Given the description of an element on the screen output the (x, y) to click on. 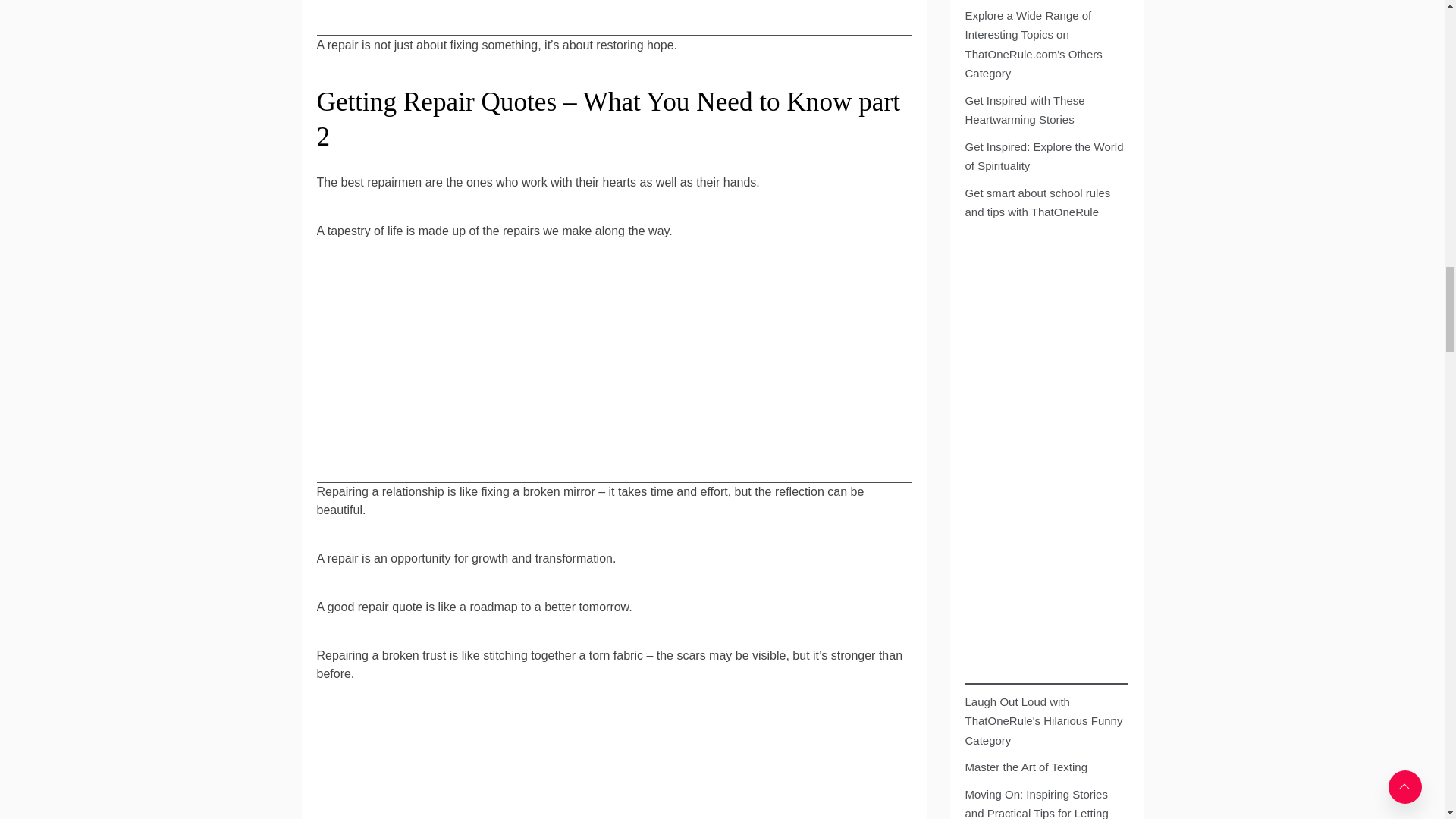
Advertisement (614, 377)
Advertisement (614, 766)
Advertisement (614, 18)
